Given the description of an element on the screen output the (x, y) to click on. 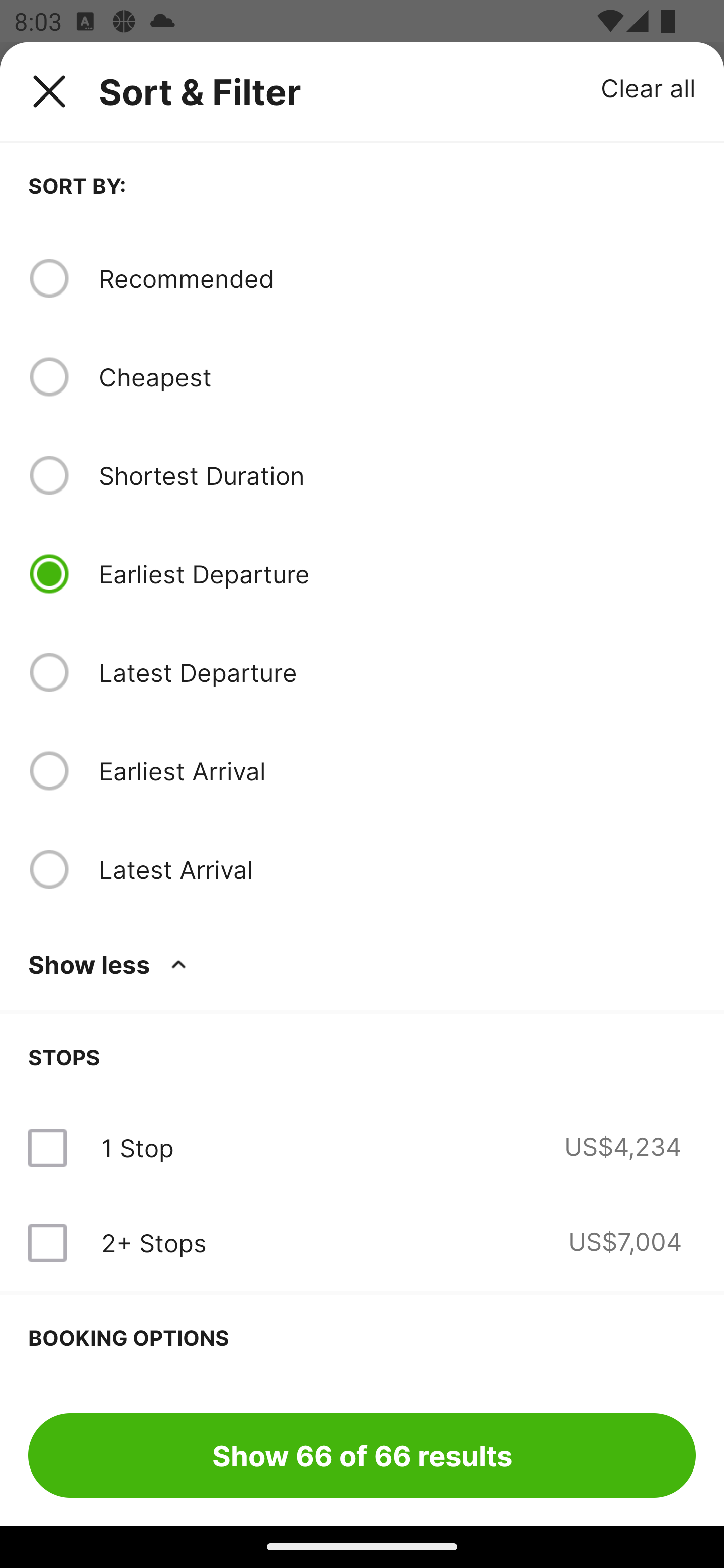
Clear all (648, 87)
Recommended  (396, 278)
Cheapest (396, 377)
Shortest Duration (396, 474)
Earliest Departure (396, 573)
Latest Departure (396, 672)
Earliest Arrival (396, 770)
Latest Arrival (396, 869)
Show less (110, 964)
1 Stop US$4,234 (362, 1147)
1 Stop (136, 1147)
2+ Stops US$7,004 (362, 1242)
2+ Stops (153, 1242)
Show 66 of 66 results (361, 1454)
